Given the description of an element on the screen output the (x, y) to click on. 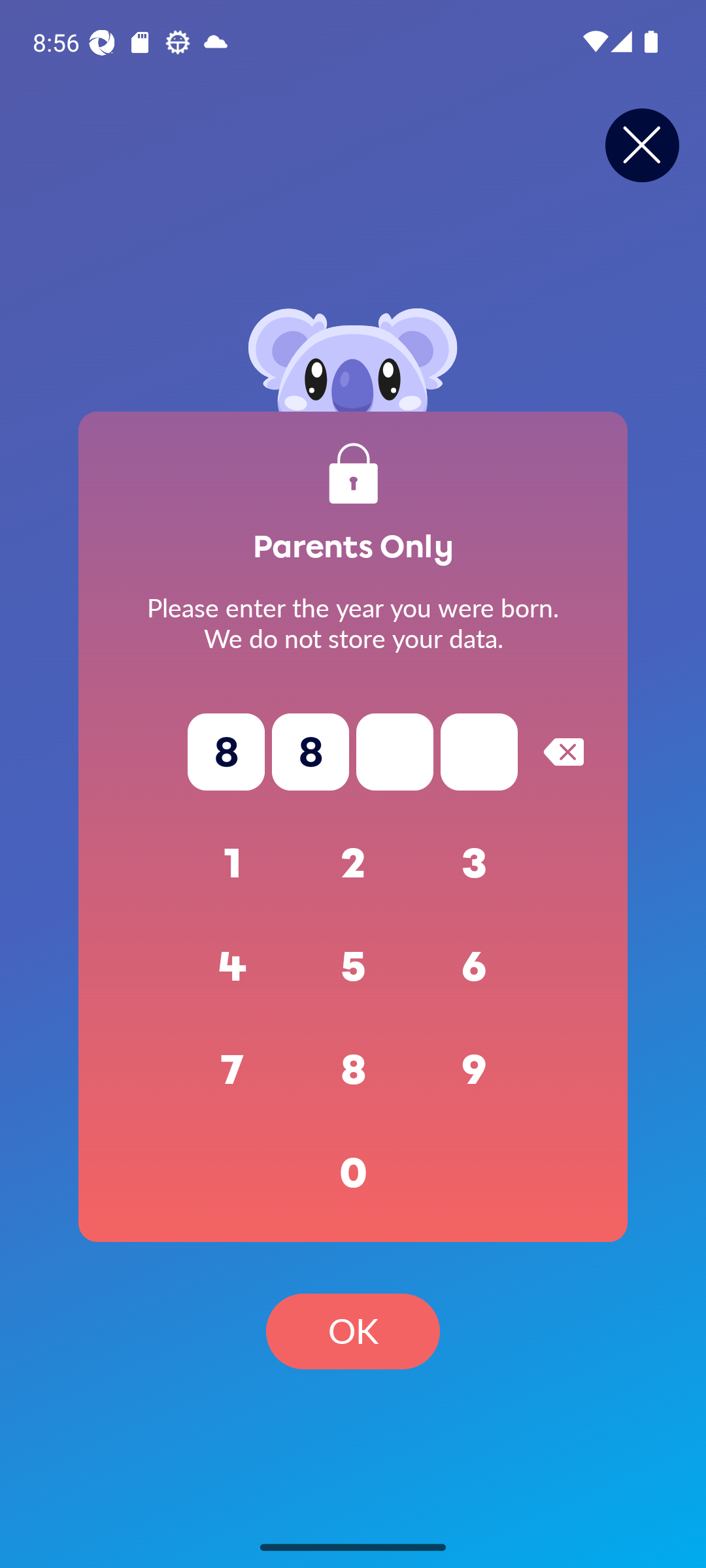
Delete (563, 751)
1 (232, 863)
2 (353, 863)
3 (474, 863)
4 (232, 966)
5 (353, 966)
6 (474, 966)
7 (232, 1069)
8 (353, 1069)
9 (474, 1069)
0 (353, 1173)
OK (352, 1331)
